Given the description of an element on the screen output the (x, y) to click on. 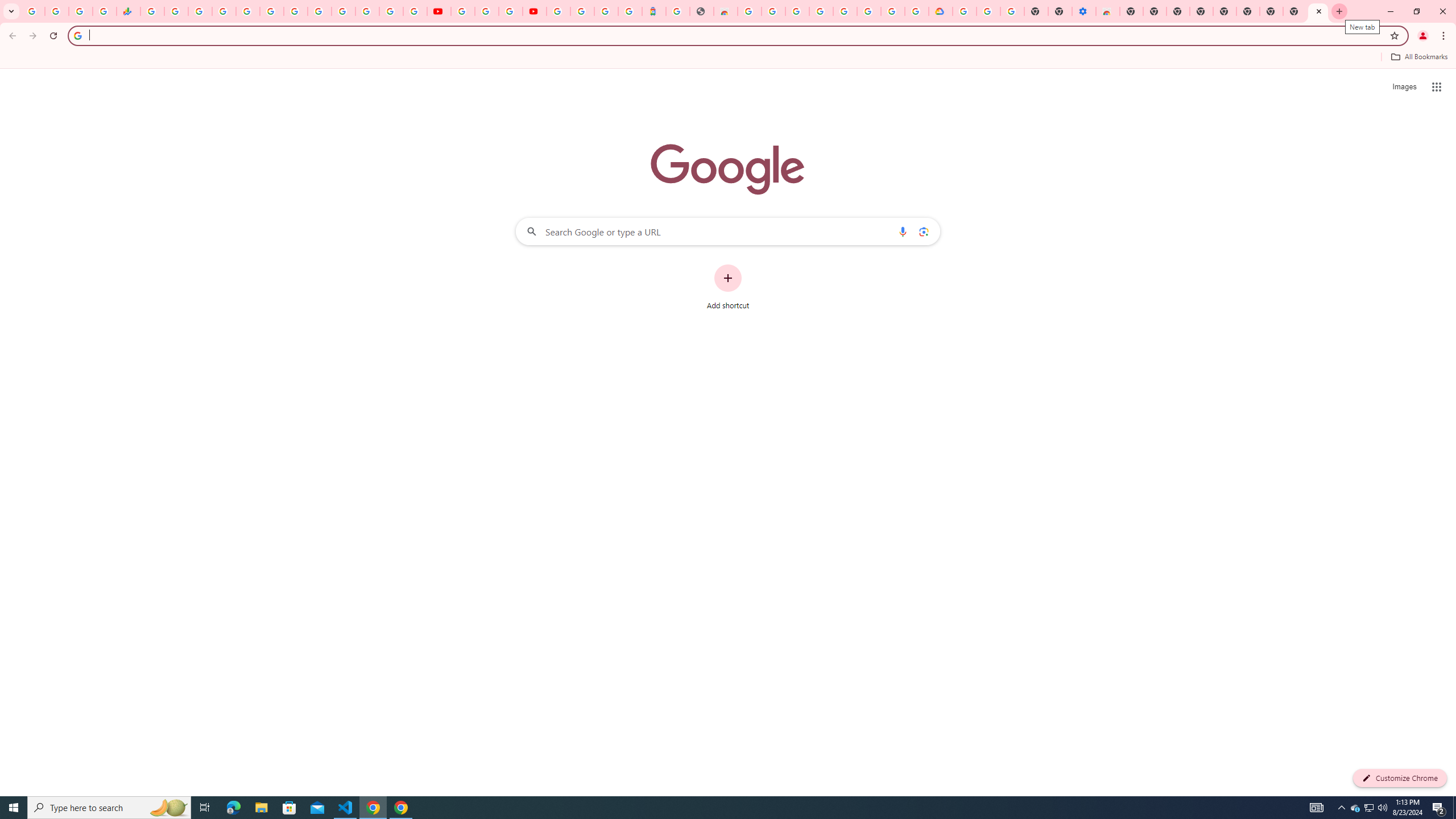
Search icon (77, 35)
Chrome Web Store - Accessibility extensions (1107, 11)
New Tab (1318, 11)
Search by voice (902, 230)
Sign in - Google Accounts (581, 11)
Create your Google Account (893, 11)
Google Account Help (844, 11)
YouTube (462, 11)
